Given the description of an element on the screen output the (x, y) to click on. 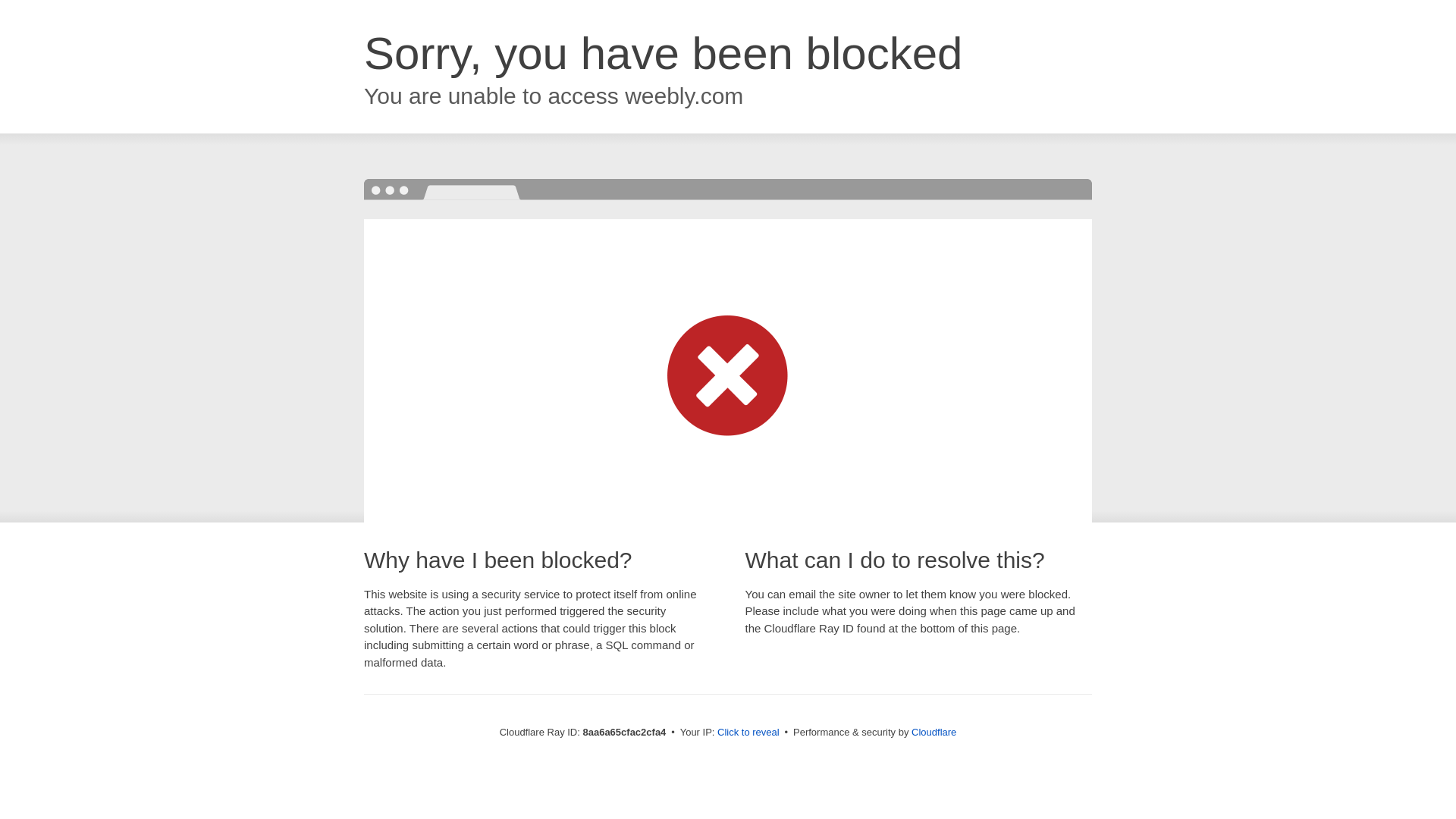
Cloudflare (933, 731)
Click to reveal (747, 732)
